Given the description of an element on the screen output the (x, y) to click on. 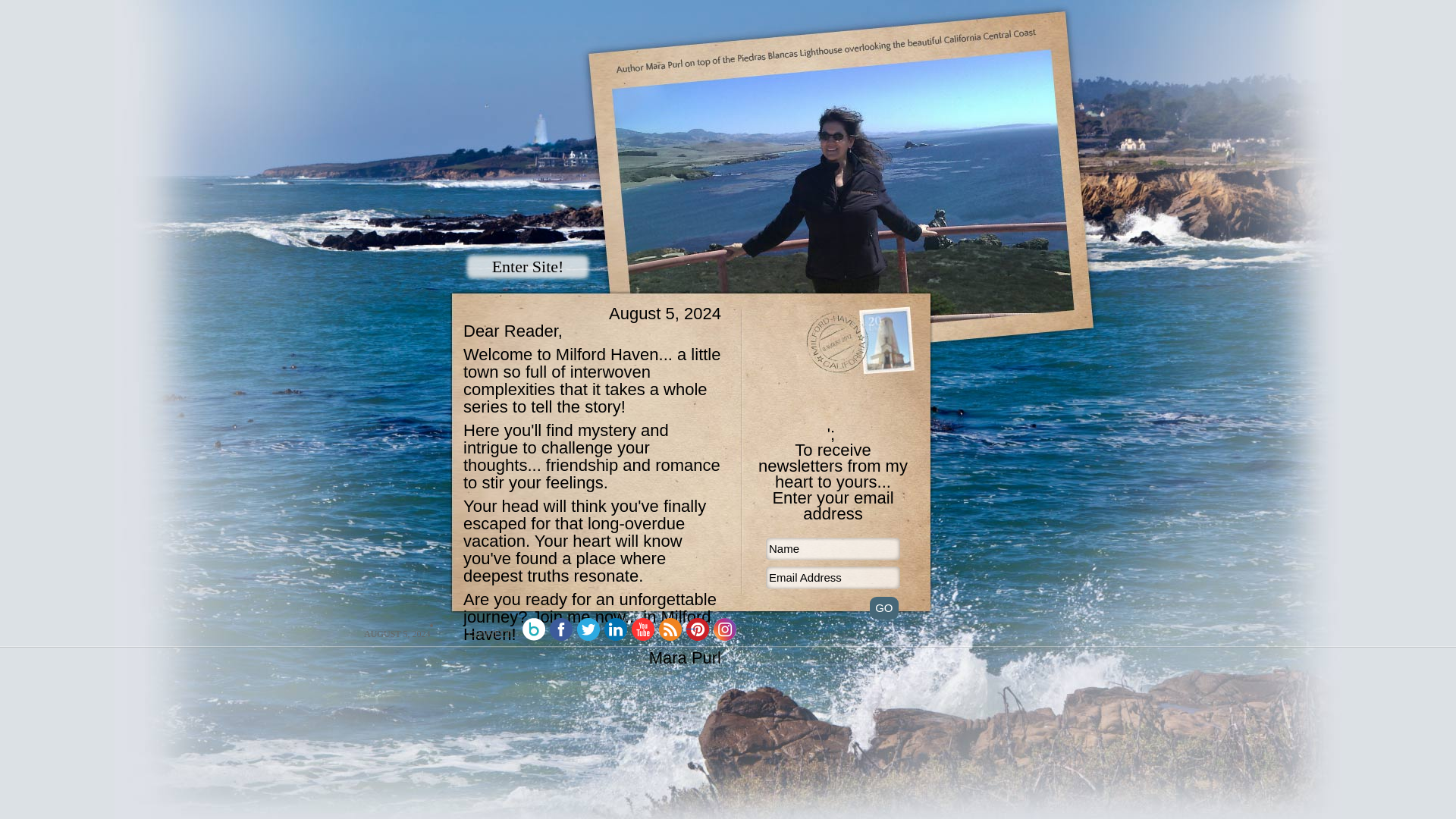
Enter Site! (527, 266)
